Given the description of an element on the screen output the (x, y) to click on. 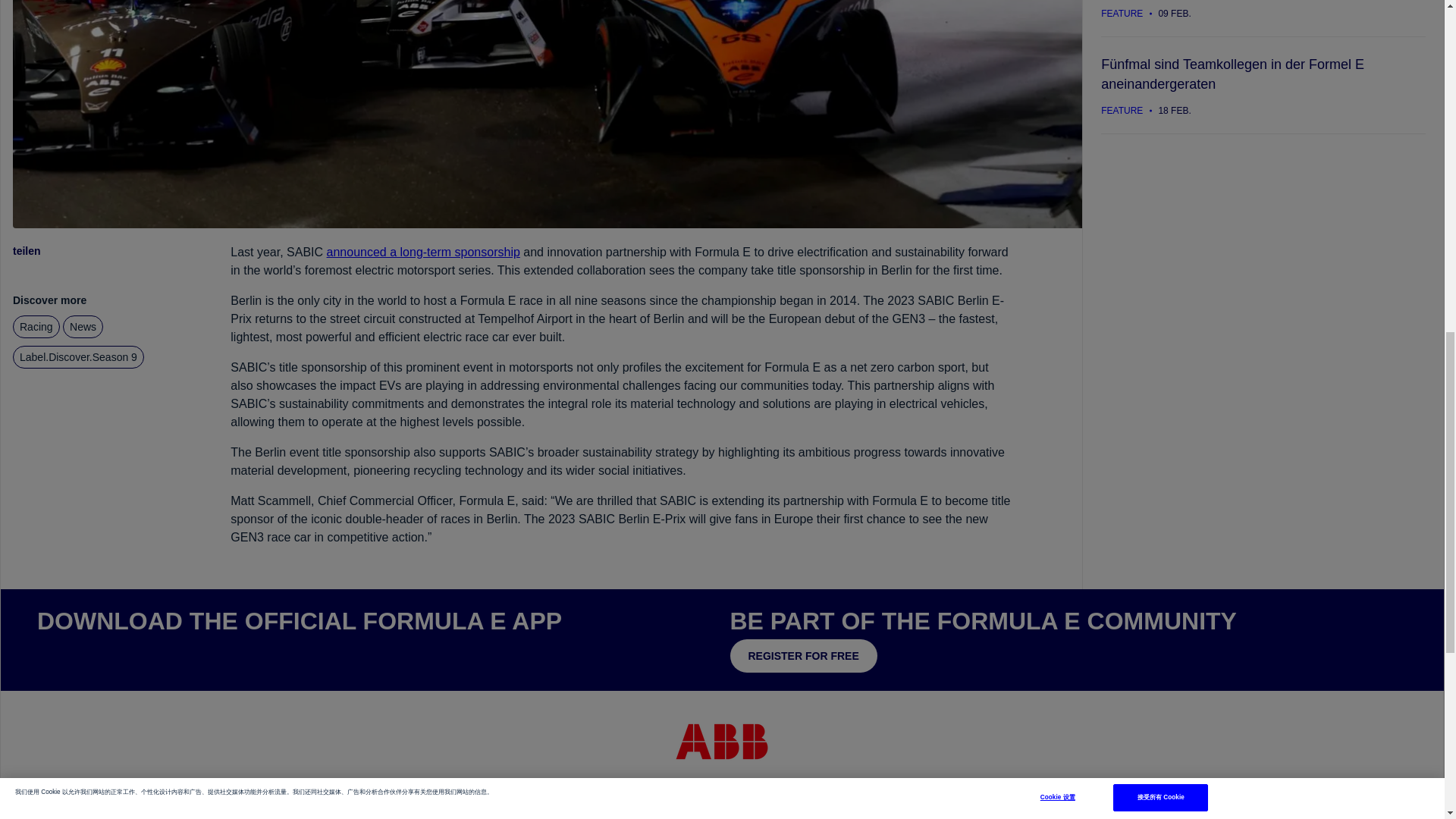
label.discover.search 9 (78, 356)
Title Partner (721, 741)
Register for free (802, 655)
label.discover.search racing (36, 326)
label.discover.search news (82, 326)
